Given the description of an element on the screen output the (x, y) to click on. 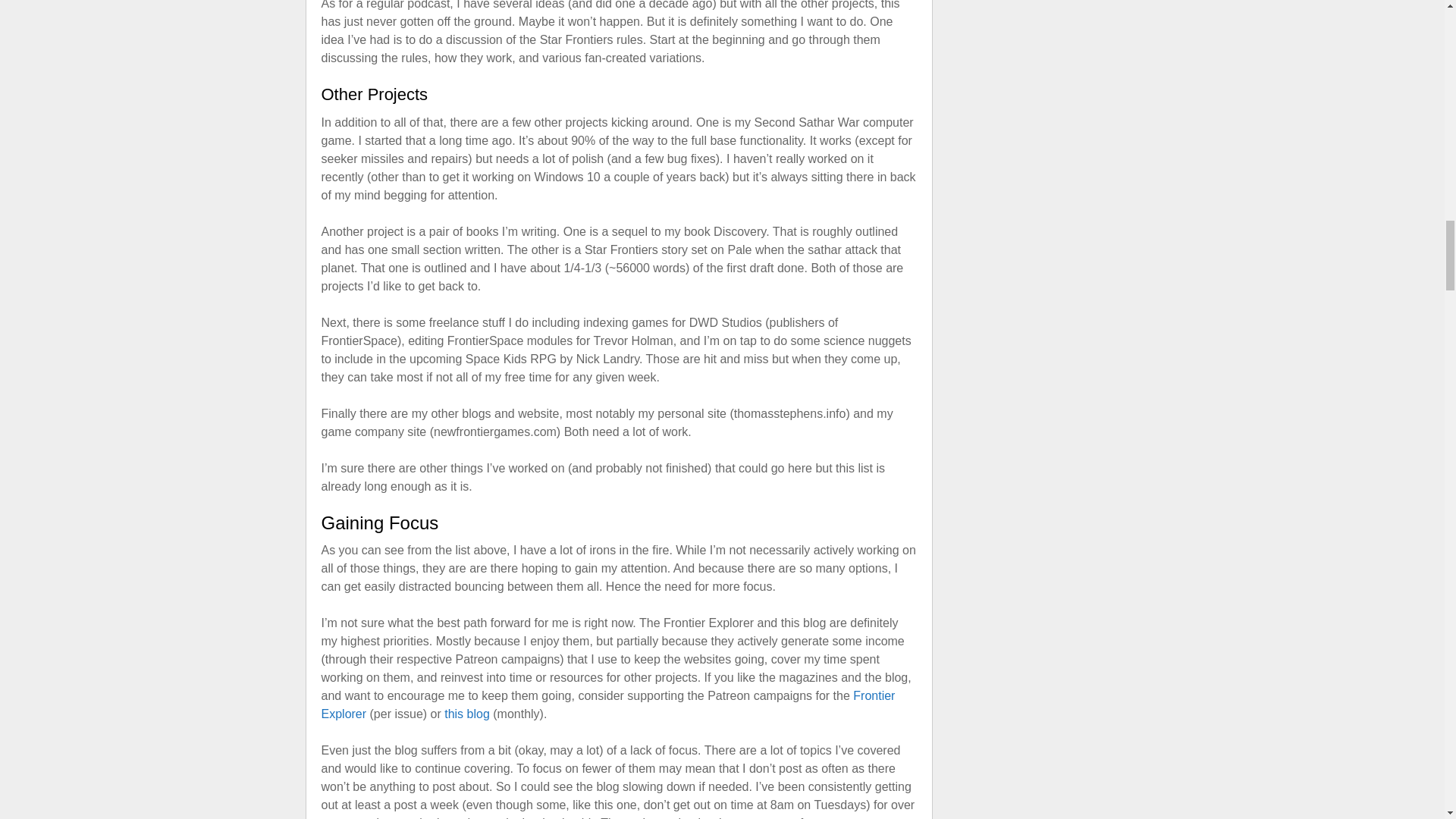
this blog (466, 713)
Frontier Explorer (608, 704)
